Given the description of an element on the screen output the (x, y) to click on. 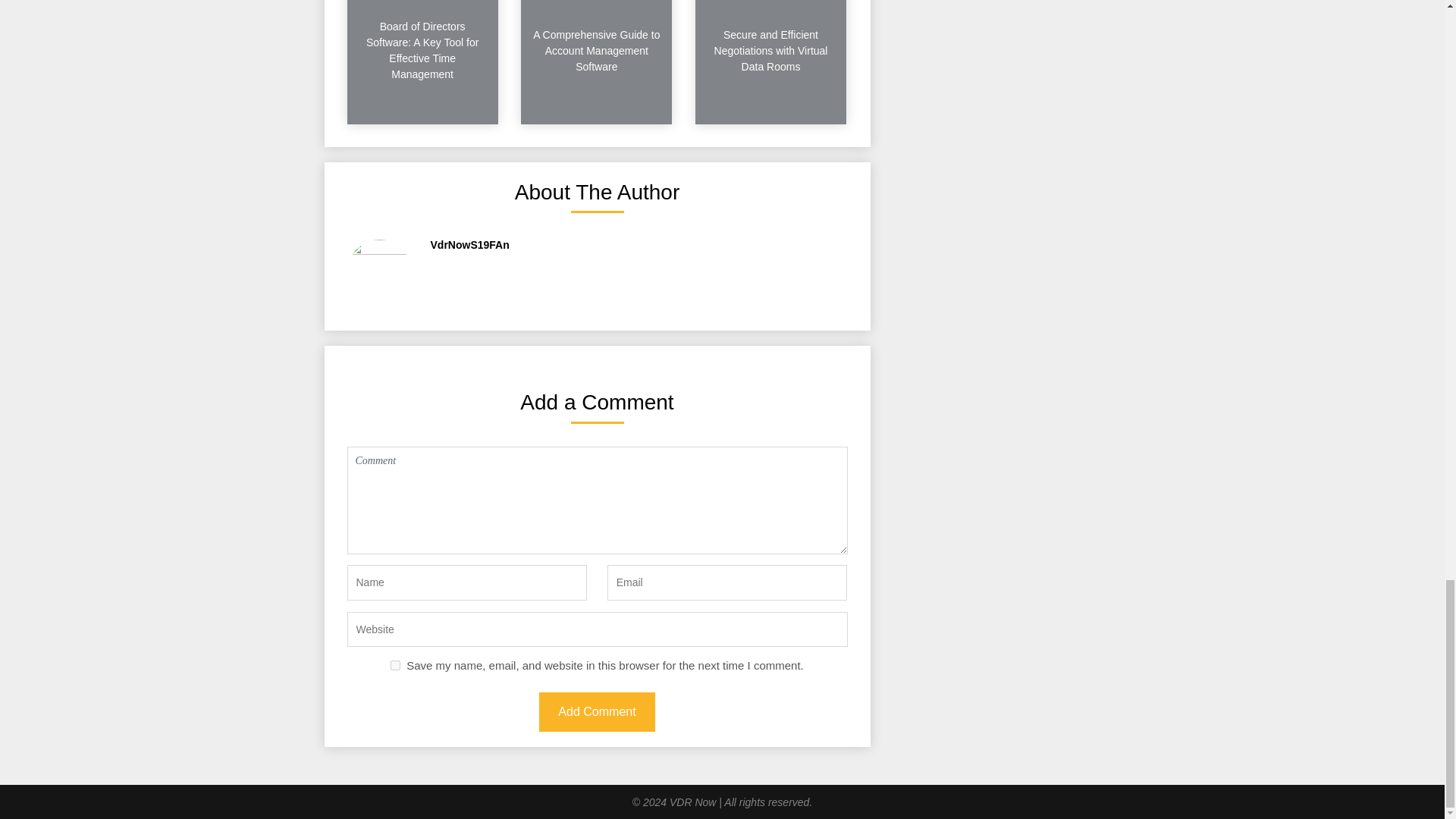
Add Comment (595, 712)
yes (395, 665)
Add Comment (595, 712)
